Given the description of an element on the screen output the (x, y) to click on. 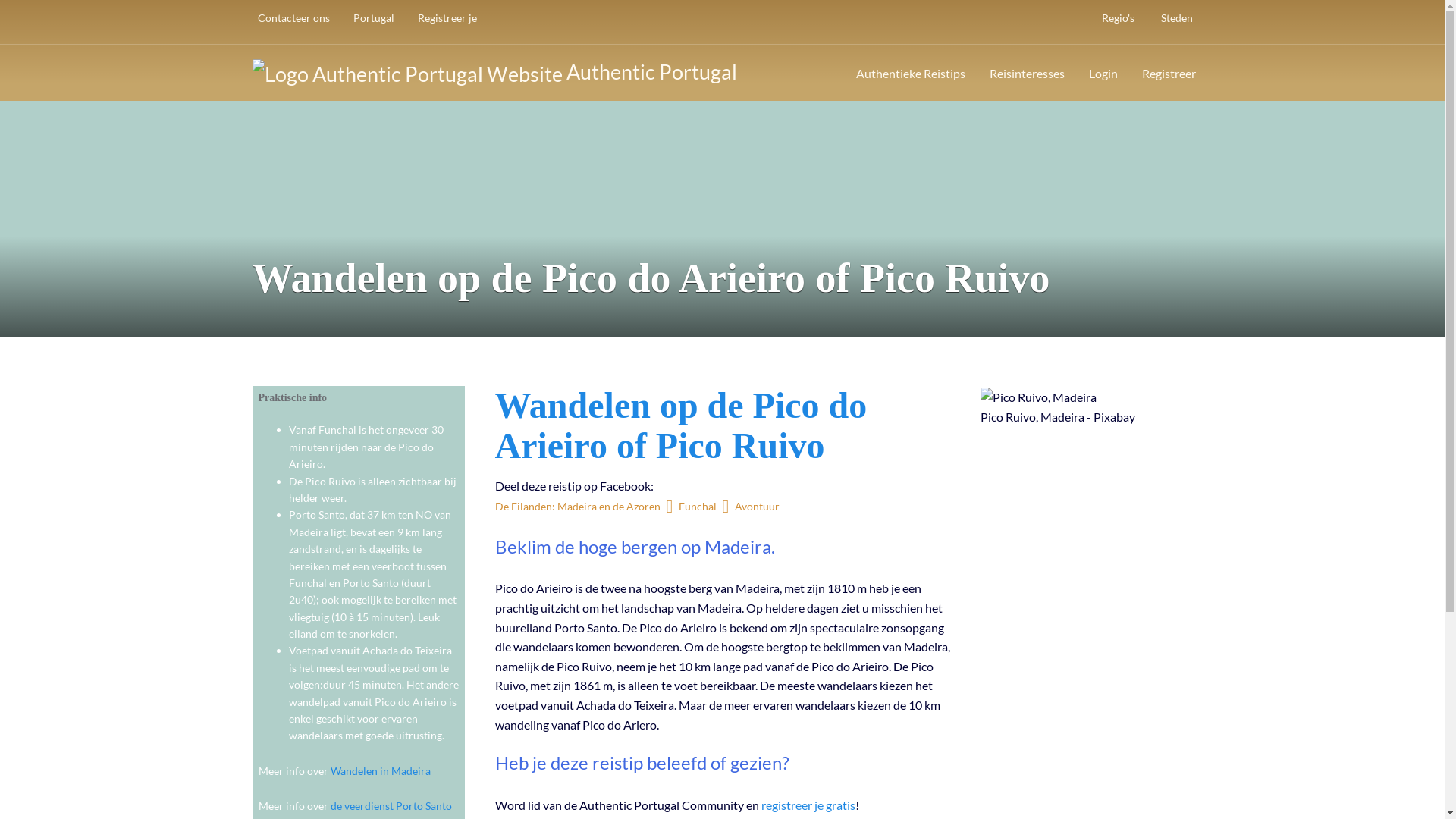
 Authentic Portugal Element type: text (493, 71)
Regio's Element type: text (1113, 18)
Avontuur Element type: text (756, 505)
Wandelen in Madeira Element type: text (380, 770)
Registreer je Element type: text (444, 18)
Registreer Element type: text (1168, 72)
Portugal Element type: text (370, 18)
De Eilanden: Madeira en de Azoren Element type: text (579, 505)
Steden Element type: text (1172, 18)
Reisinteresses Element type: text (1026, 72)
Funchal Element type: text (696, 505)
Login Element type: text (1102, 72)
Contacteer ons Element type: text (290, 18)
registreer je gratis Element type: text (808, 804)
Authentieke Reistips Element type: text (909, 72)
